Given the description of an element on the screen output the (x, y) to click on. 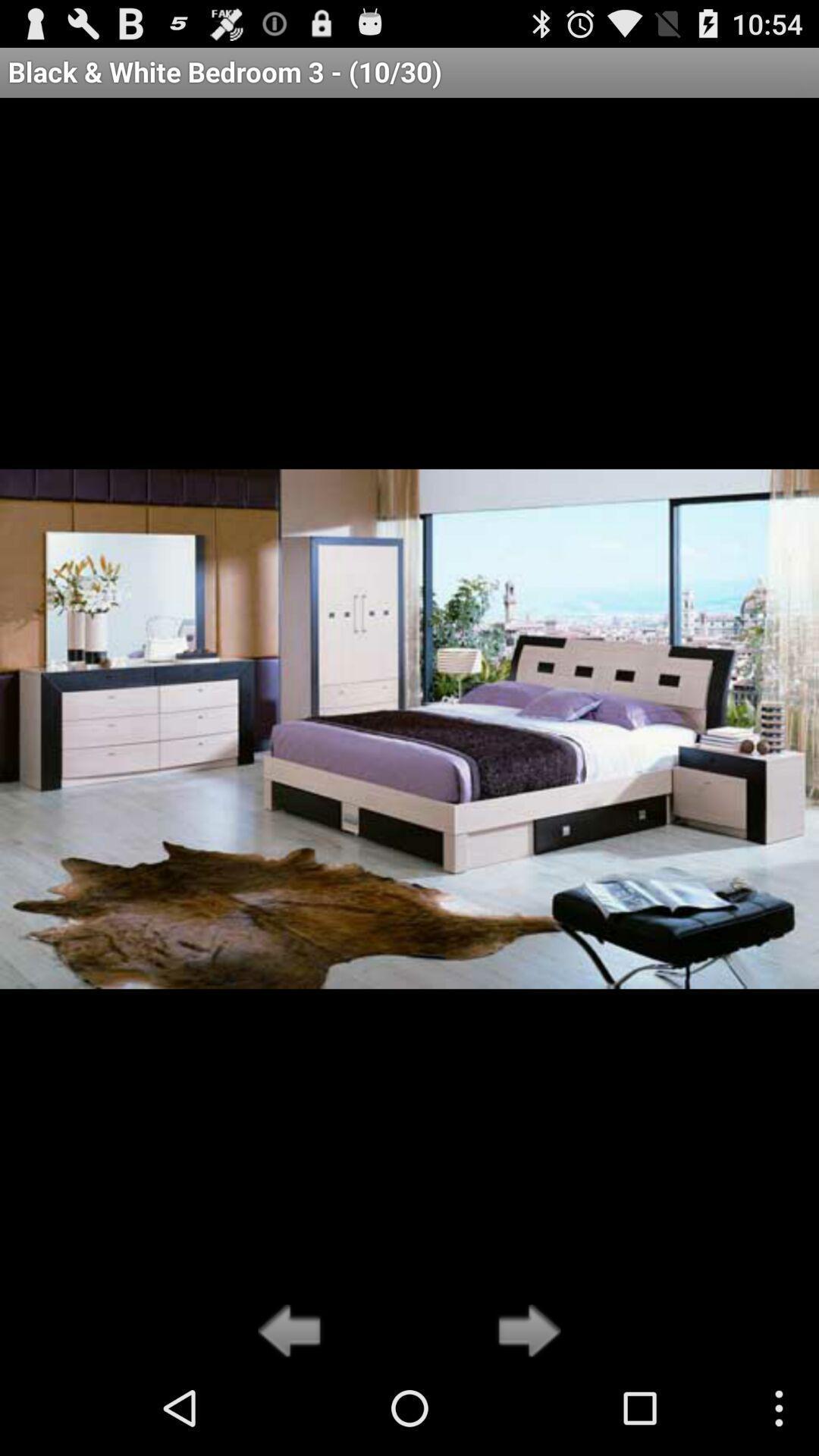
back (293, 1332)
